Given the description of an element on the screen output the (x, y) to click on. 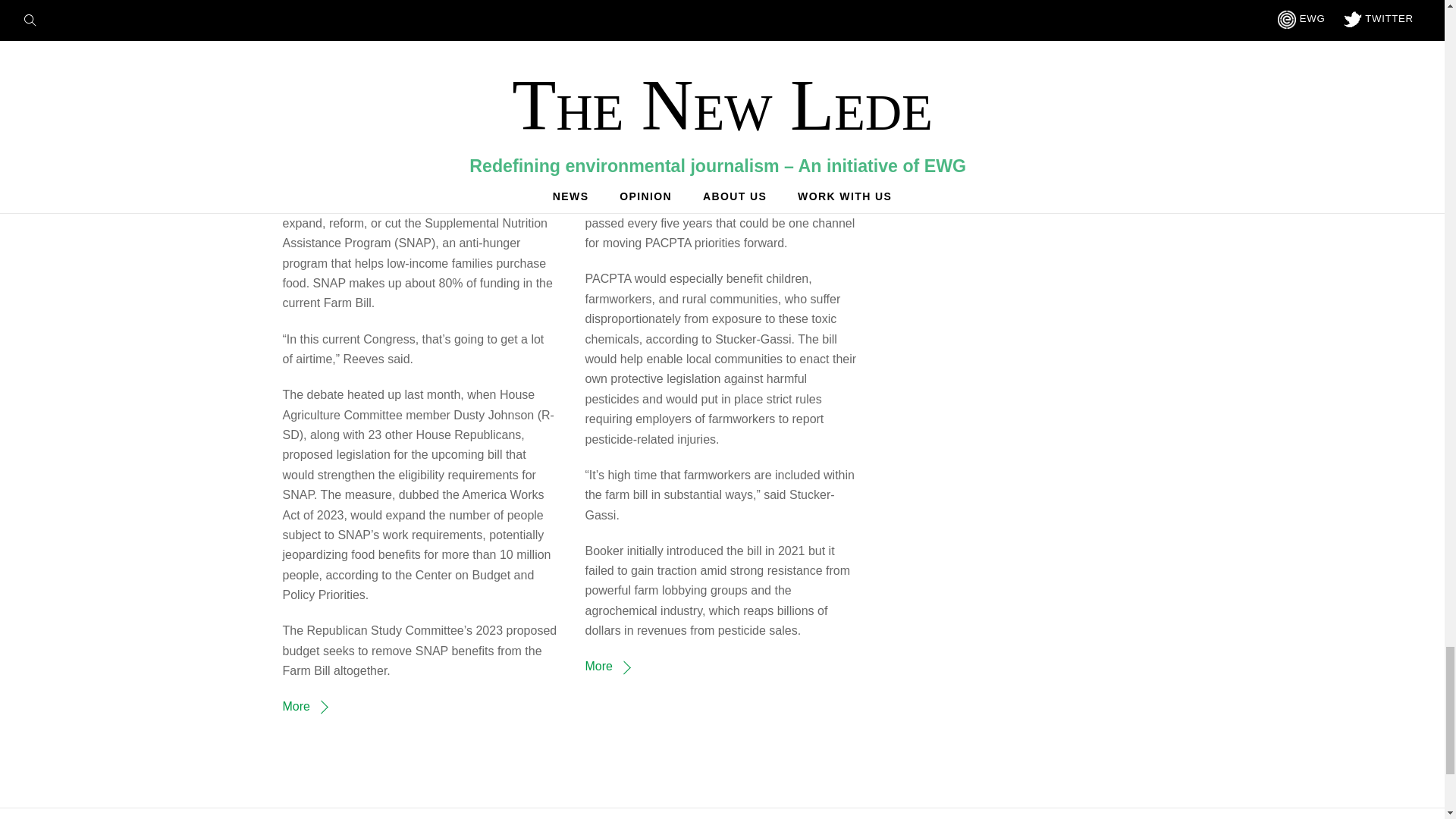
More (304, 706)
More (606, 666)
